Given the description of an element on the screen output the (x, y) to click on. 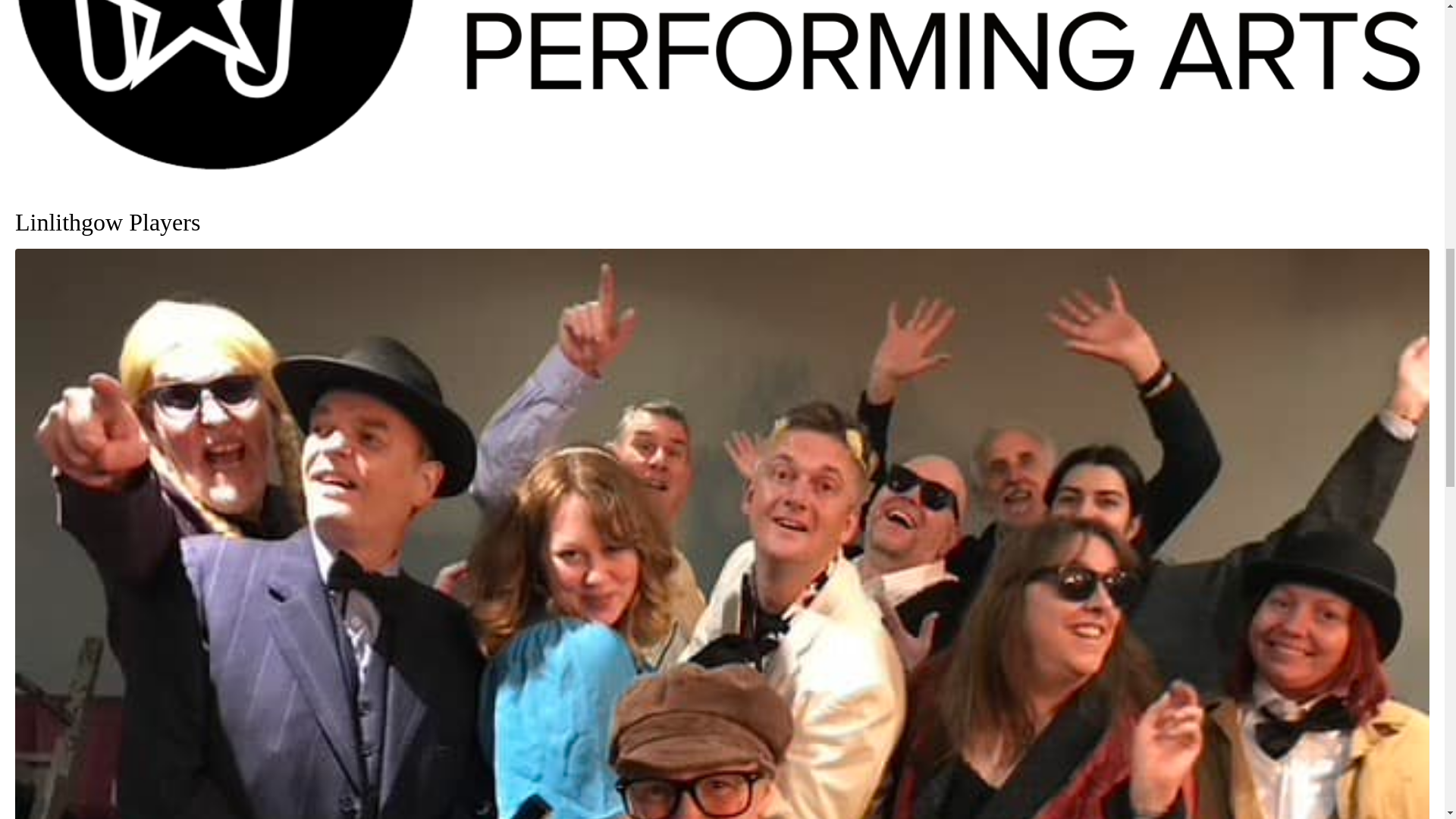
Linlithgow Players (107, 221)
